Given the description of an element on the screen output the (x, y) to click on. 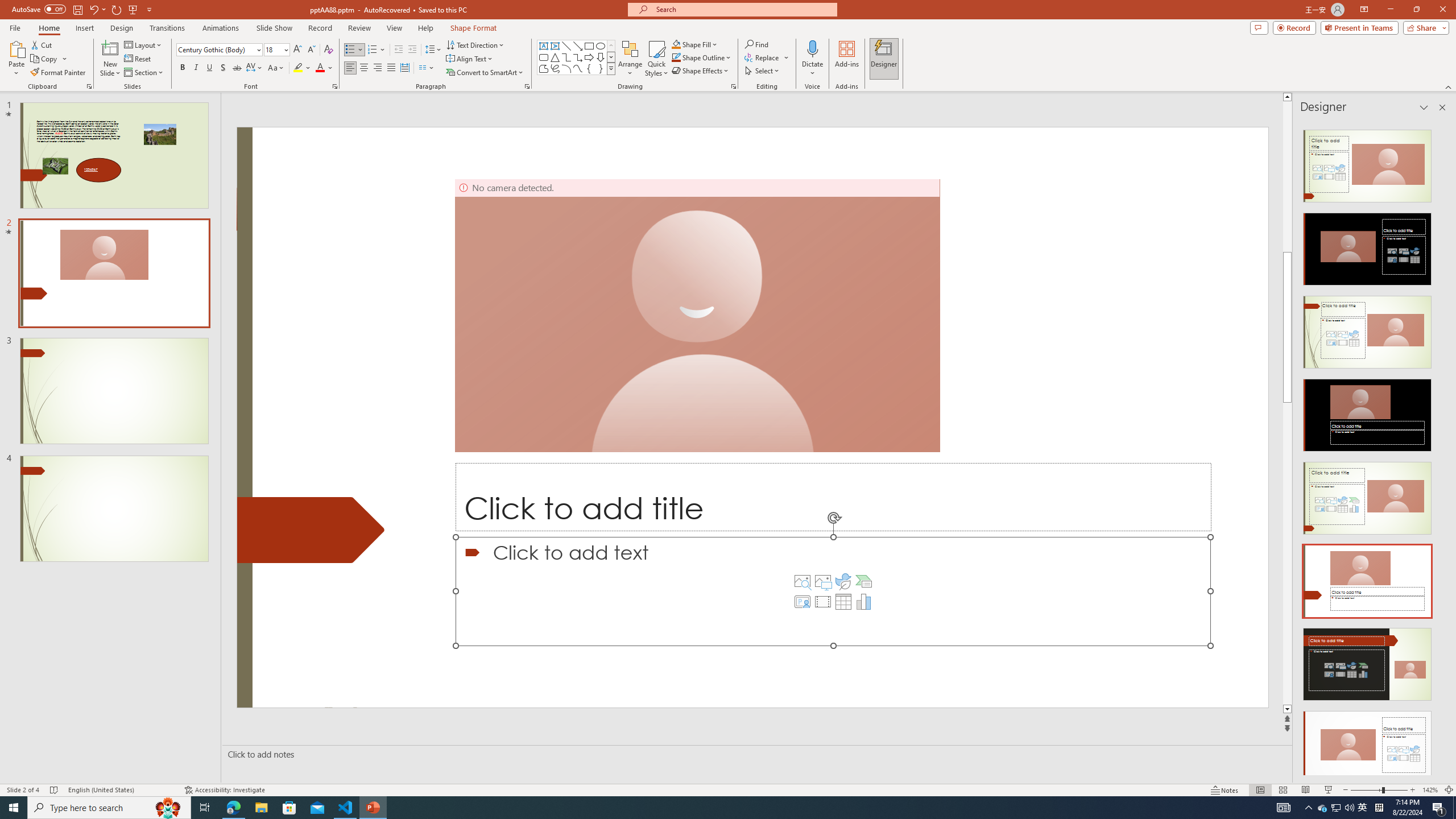
Decorative Locked (310, 530)
